Given the description of an element on the screen output the (x, y) to click on. 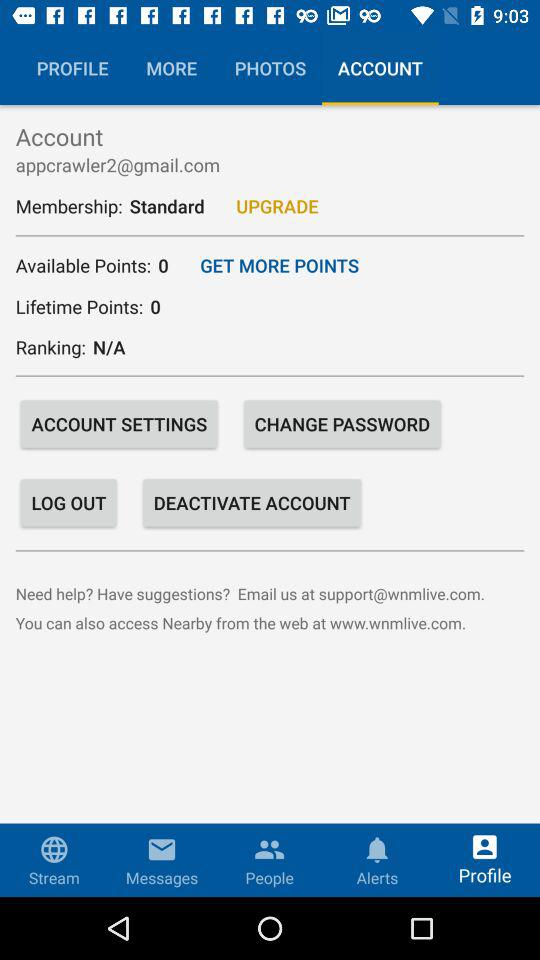
press upgrade (277, 206)
